Given the description of an element on the screen output the (x, y) to click on. 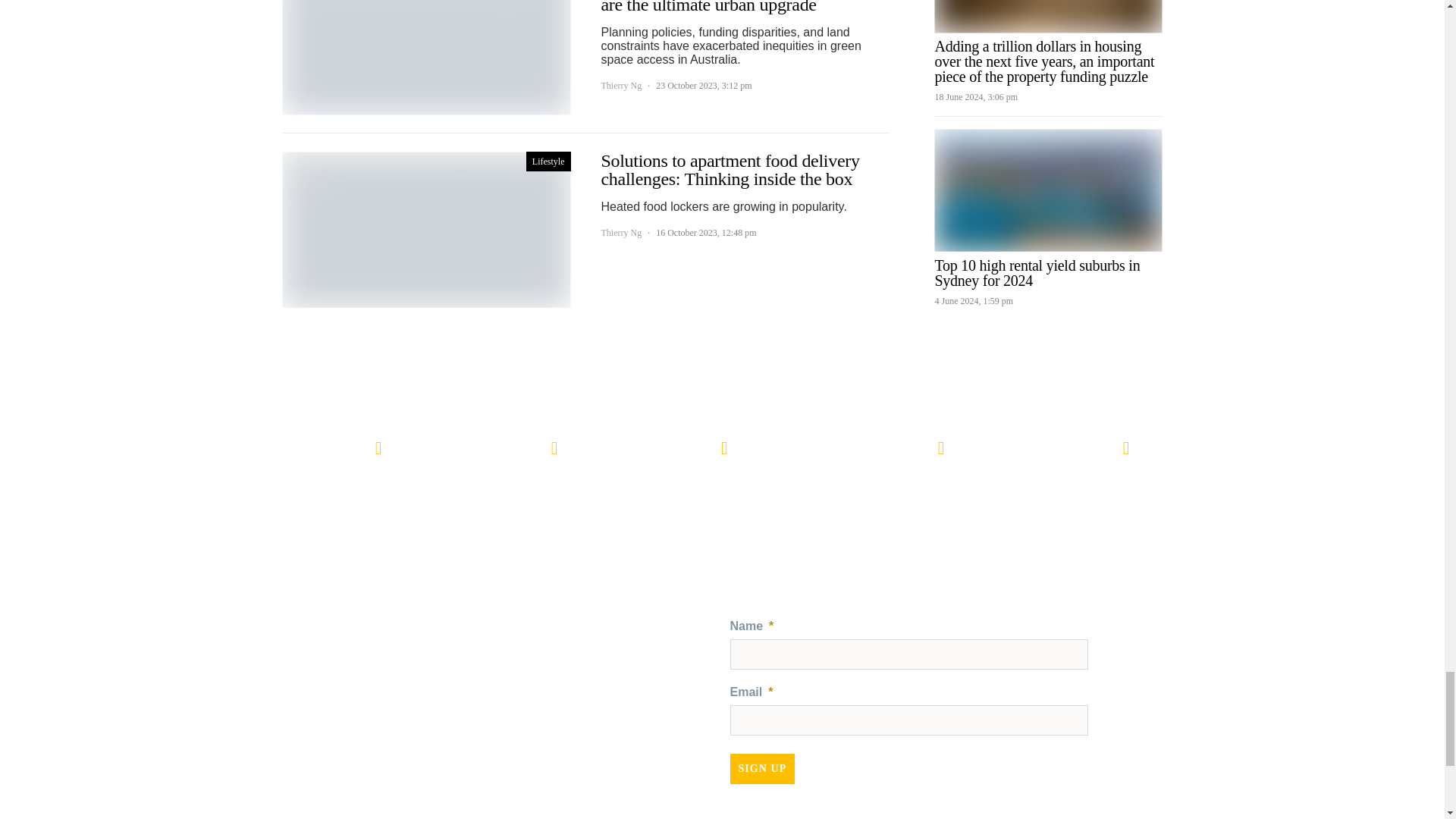
The Property Tribune (528, 640)
View all posts by Thierry Ng (620, 232)
Sign up (761, 768)
View all posts by Thierry Ng (620, 85)
